Given the description of an element on the screen output the (x, y) to click on. 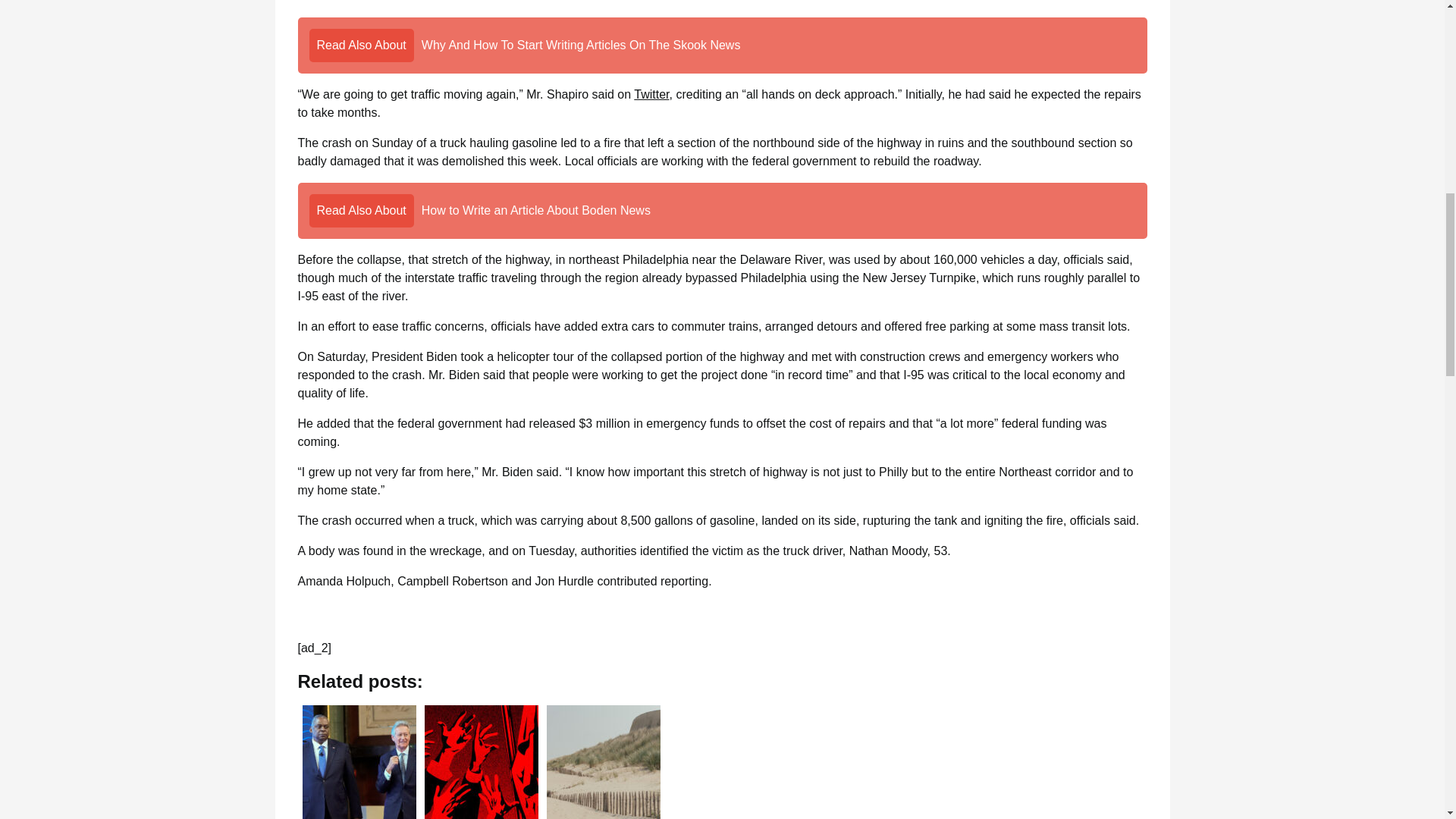
China and U.S. Offer Rival Visions for Asia (358, 760)
Read Also AboutHow to Write an Article About Boden News (722, 210)
Twitter (650, 93)
